Given the description of an element on the screen output the (x, y) to click on. 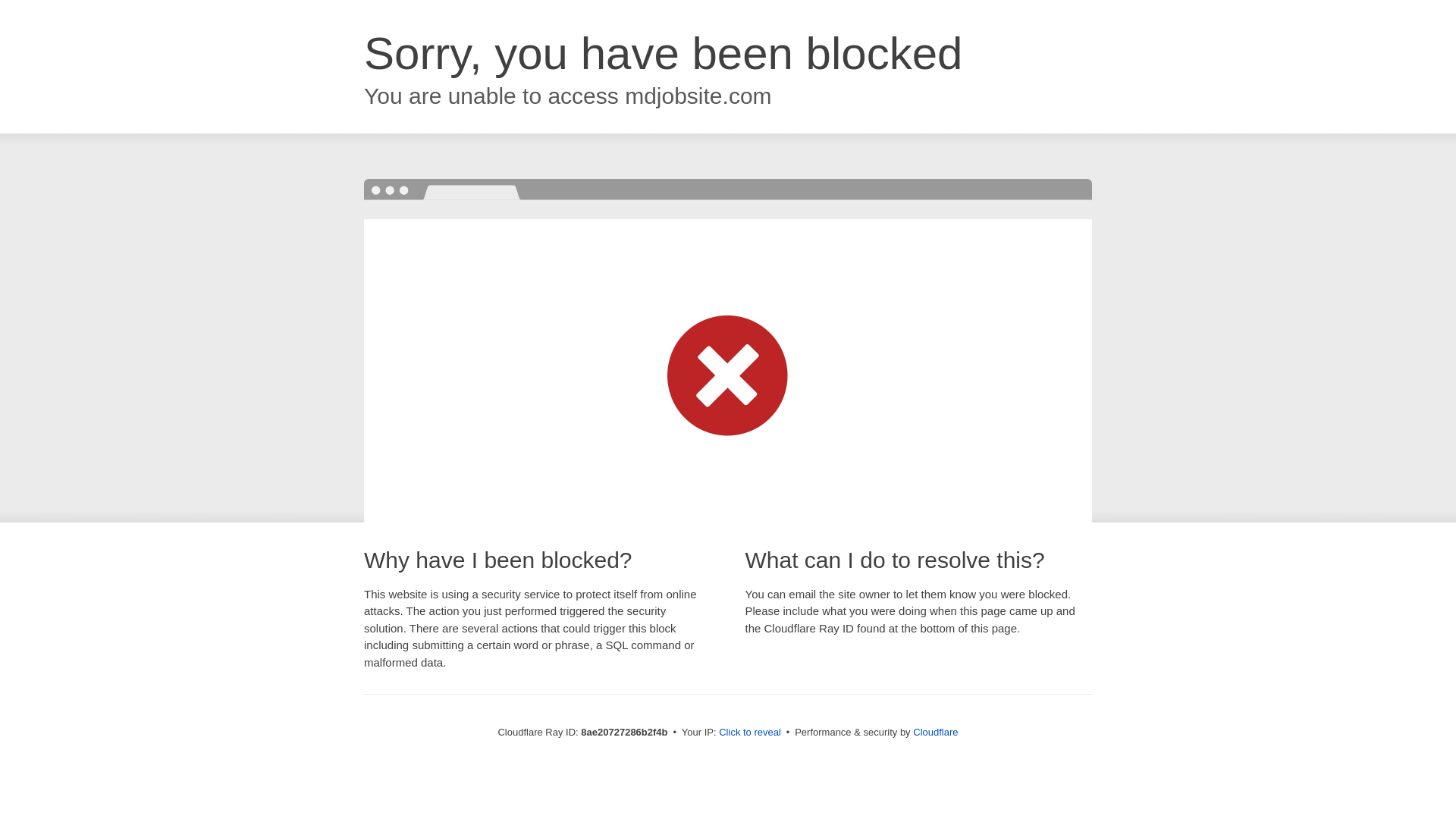
Cloudflare (935, 731)
Click to reveal (749, 732)
